Given the description of an element on the screen output the (x, y) to click on. 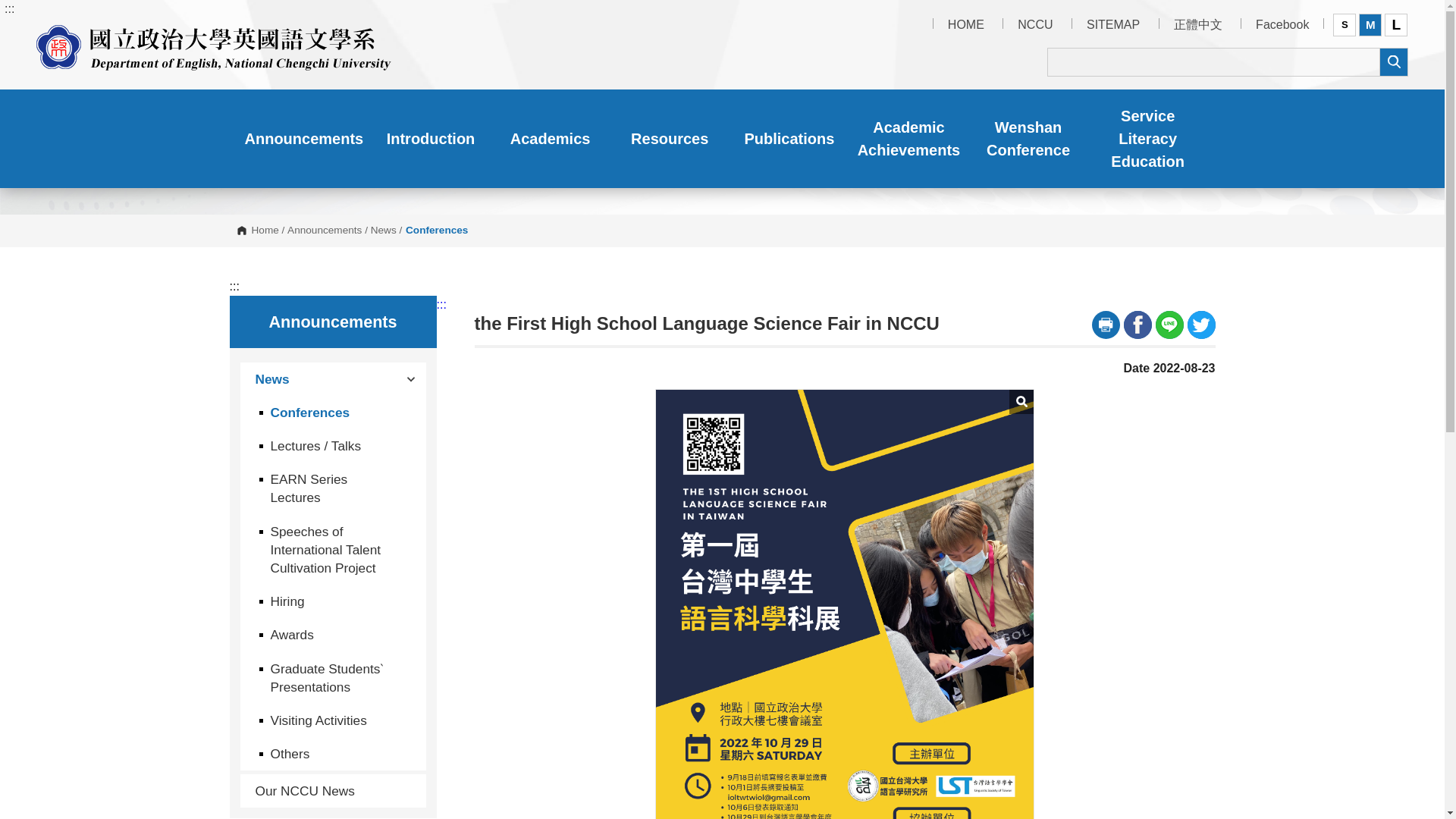
Go to Content Area (7, 3)
Introduction (430, 138)
Announcements (304, 138)
Academics (550, 138)
Small (1344, 24)
home (213, 44)
Go to Content Area (7, 3)
SITEMAP (1113, 24)
Facebook (1281, 24)
S (1344, 24)
search (1392, 61)
search (1392, 61)
Announcements (304, 138)
Resources (669, 138)
L (1395, 24)
